Given the description of an element on the screen output the (x, y) to click on. 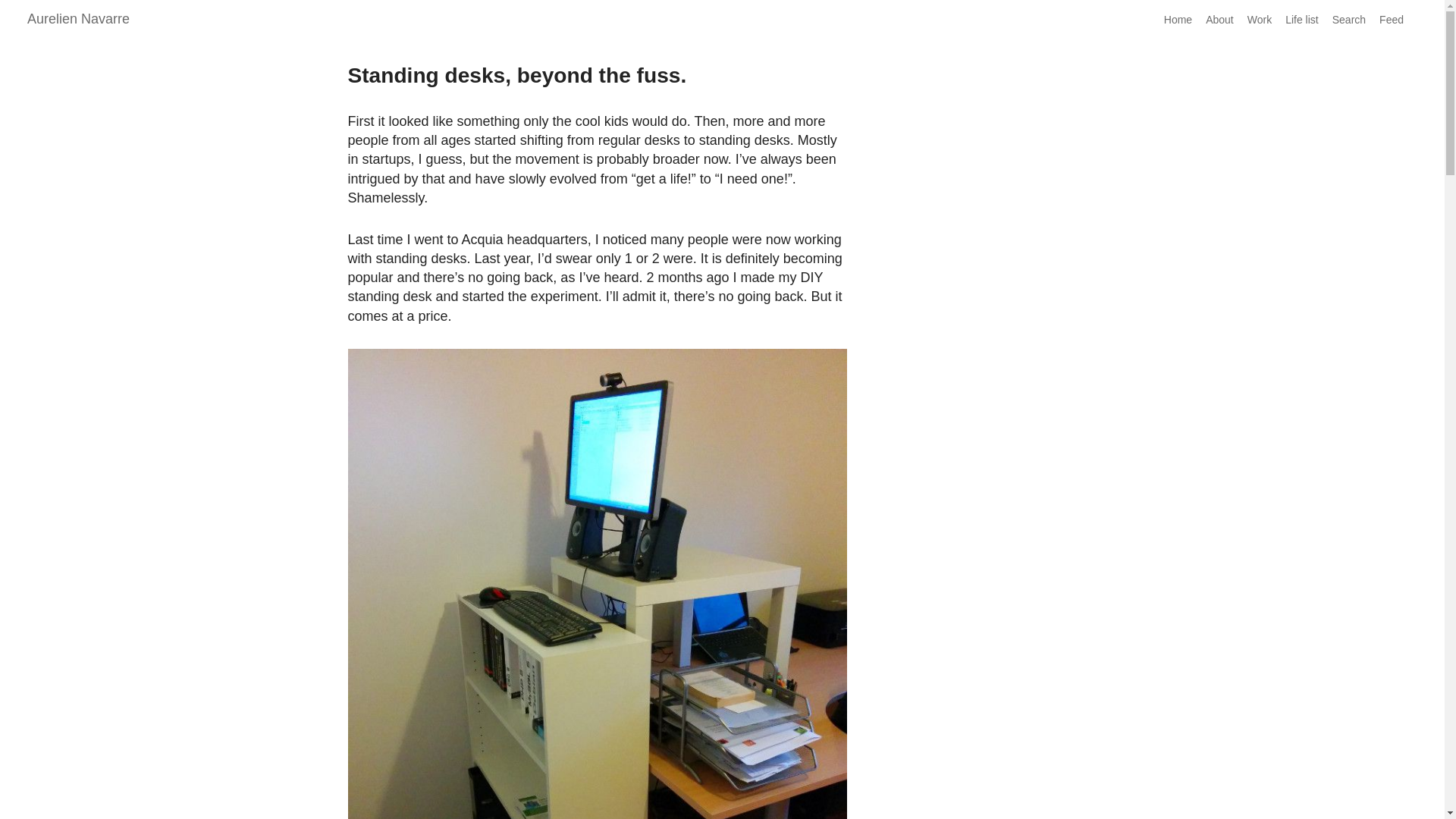
Feed (1390, 20)
About (1219, 20)
Aurelien Navarre (78, 18)
Work (1259, 20)
Life list (1302, 20)
Search (1348, 20)
Life list (1302, 20)
Feed (1390, 20)
Search (1348, 20)
About (1219, 20)
